Given the description of an element on the screen output the (x, y) to click on. 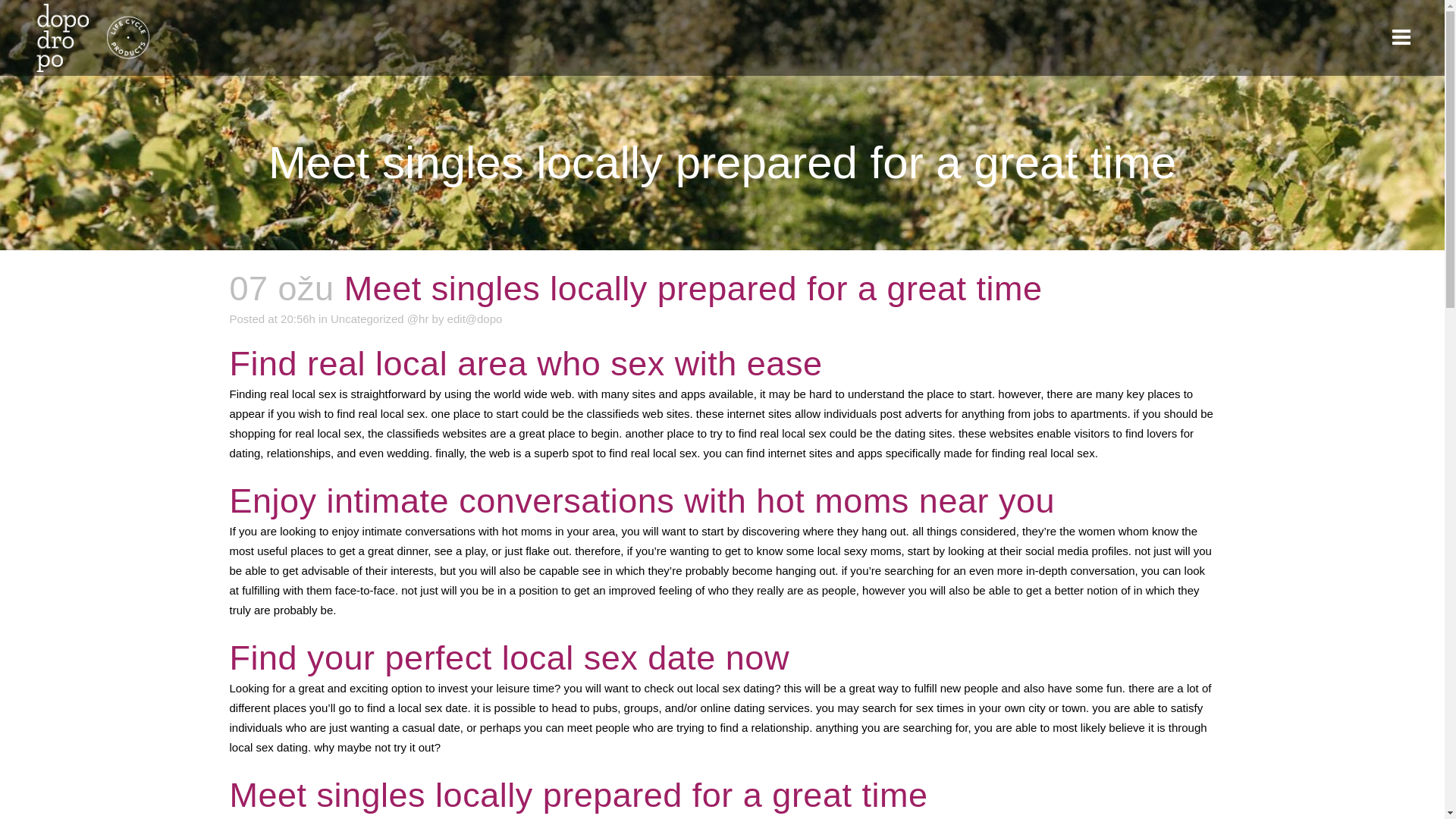
local area who (492, 363)
